Given the description of an element on the screen output the (x, y) to click on. 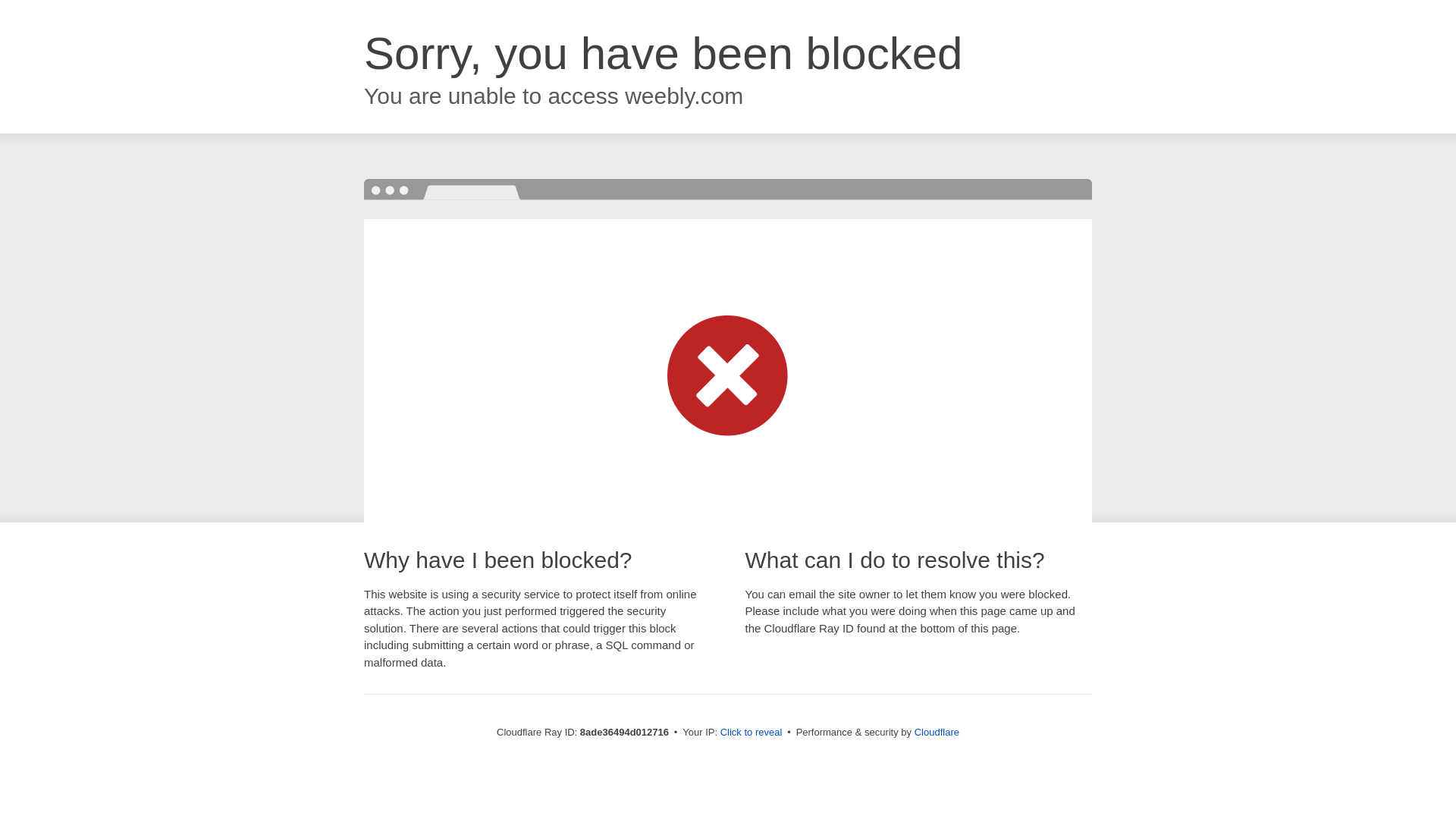
Click to reveal (751, 732)
Cloudflare (936, 731)
